Given the description of an element on the screen output the (x, y) to click on. 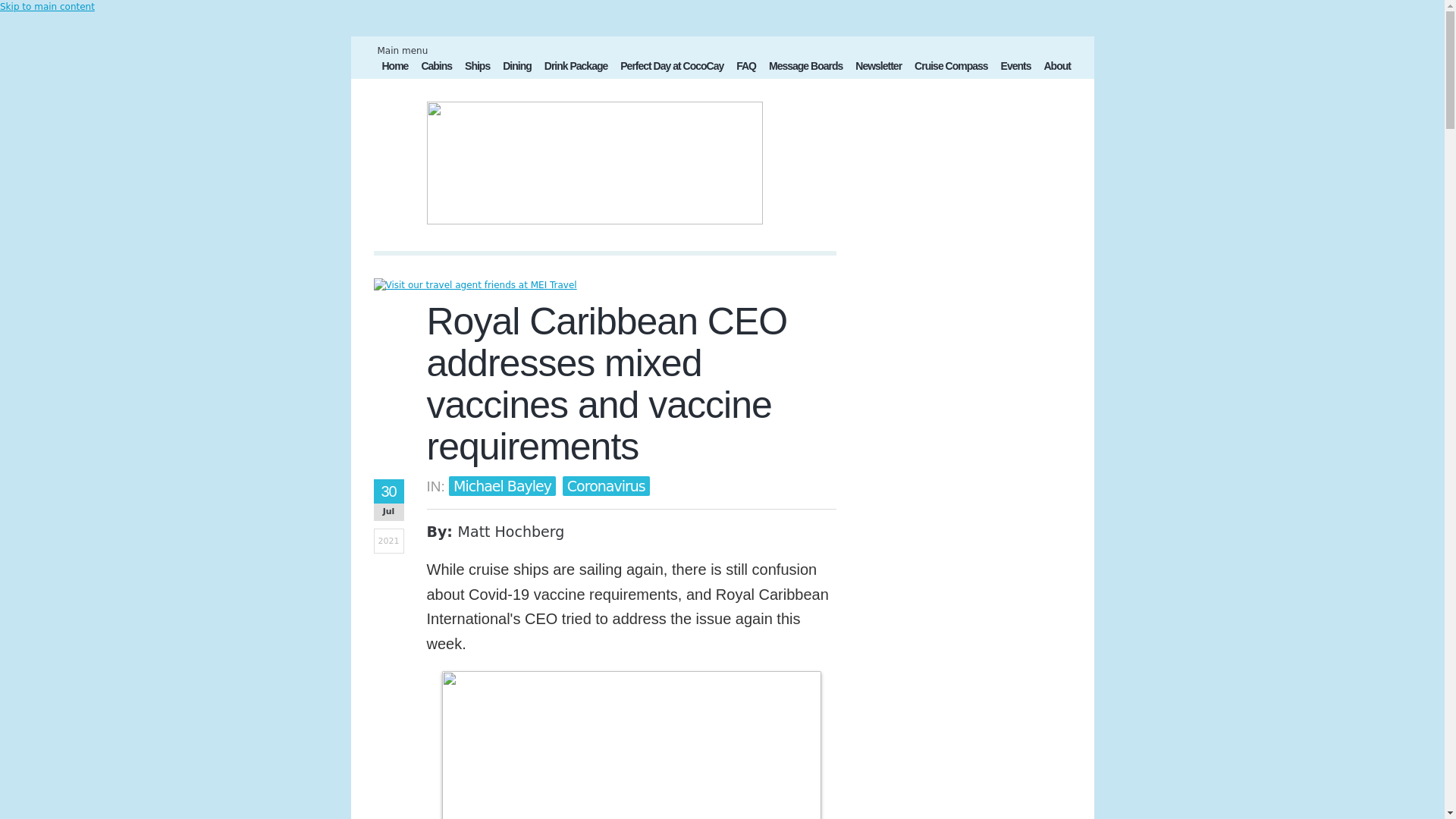
Ships (477, 67)
Coronavirus (605, 485)
Message Boards (805, 67)
Royal Caribbean drink package (576, 67)
Michael Bayley (502, 485)
Cruise cabins and suites (436, 67)
Community forum (805, 67)
FAQ (746, 67)
Royal Caribbean Blog newsletter (877, 67)
Events (1015, 67)
Drink Package (576, 67)
Royal Caribbean Dining (516, 67)
Cruise Compass (950, 67)
Dining (516, 67)
Home (395, 67)
